Given the description of an element on the screen output the (x, y) to click on. 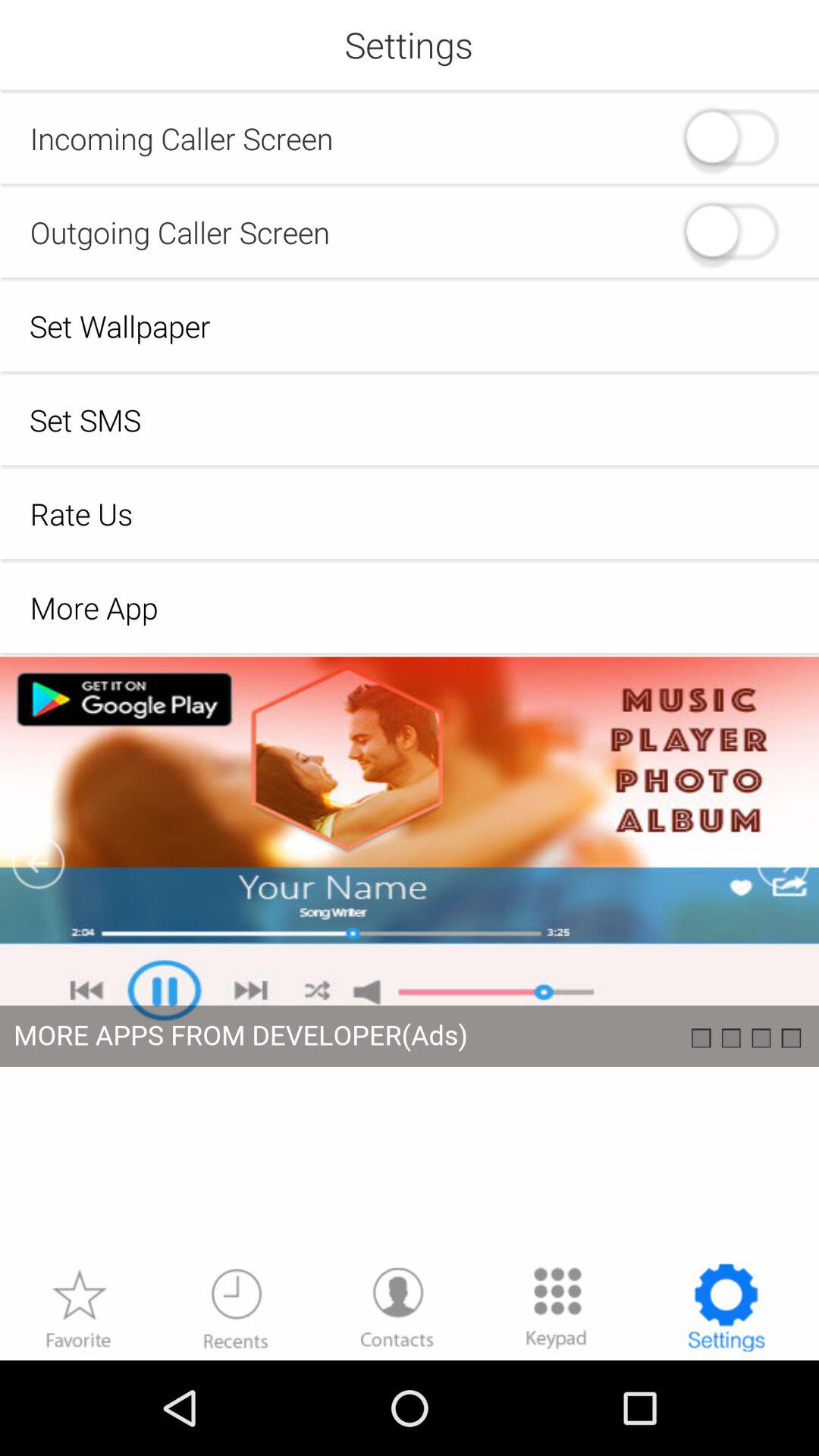
recents (235, 1307)
